Given the description of an element on the screen output the (x, y) to click on. 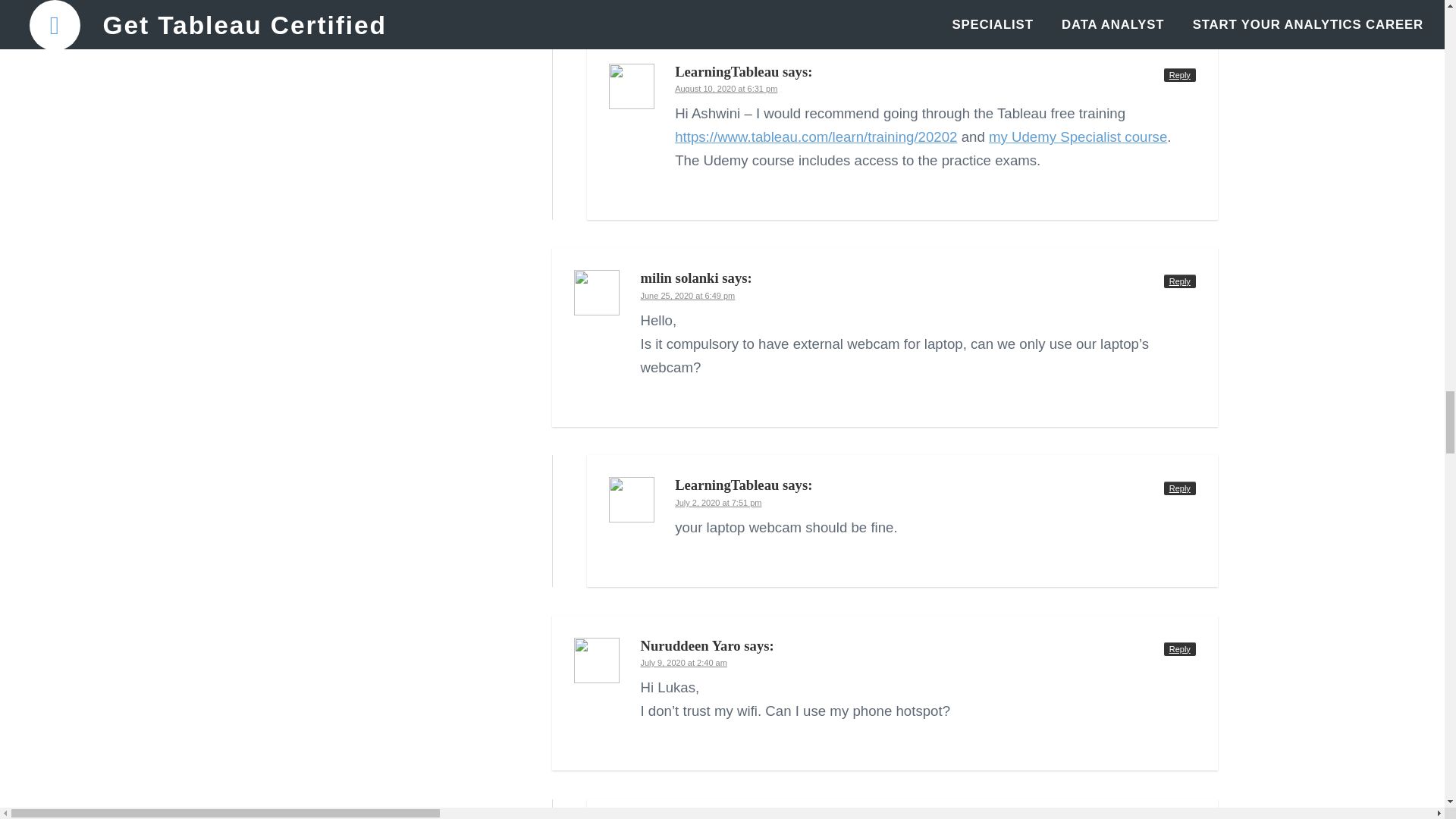
June 25, 2020 at 6:49 pm (687, 295)
Reply (1179, 648)
July 9, 2020 at 2:40 am (683, 662)
Reply (1179, 281)
Reply (1179, 488)
July 2, 2020 at 7:51 pm (718, 501)
August 10, 2020 at 6:31 pm (726, 88)
my Udemy Specialist course (1077, 136)
Reply (1179, 74)
